Given the description of an element on the screen output the (x, y) to click on. 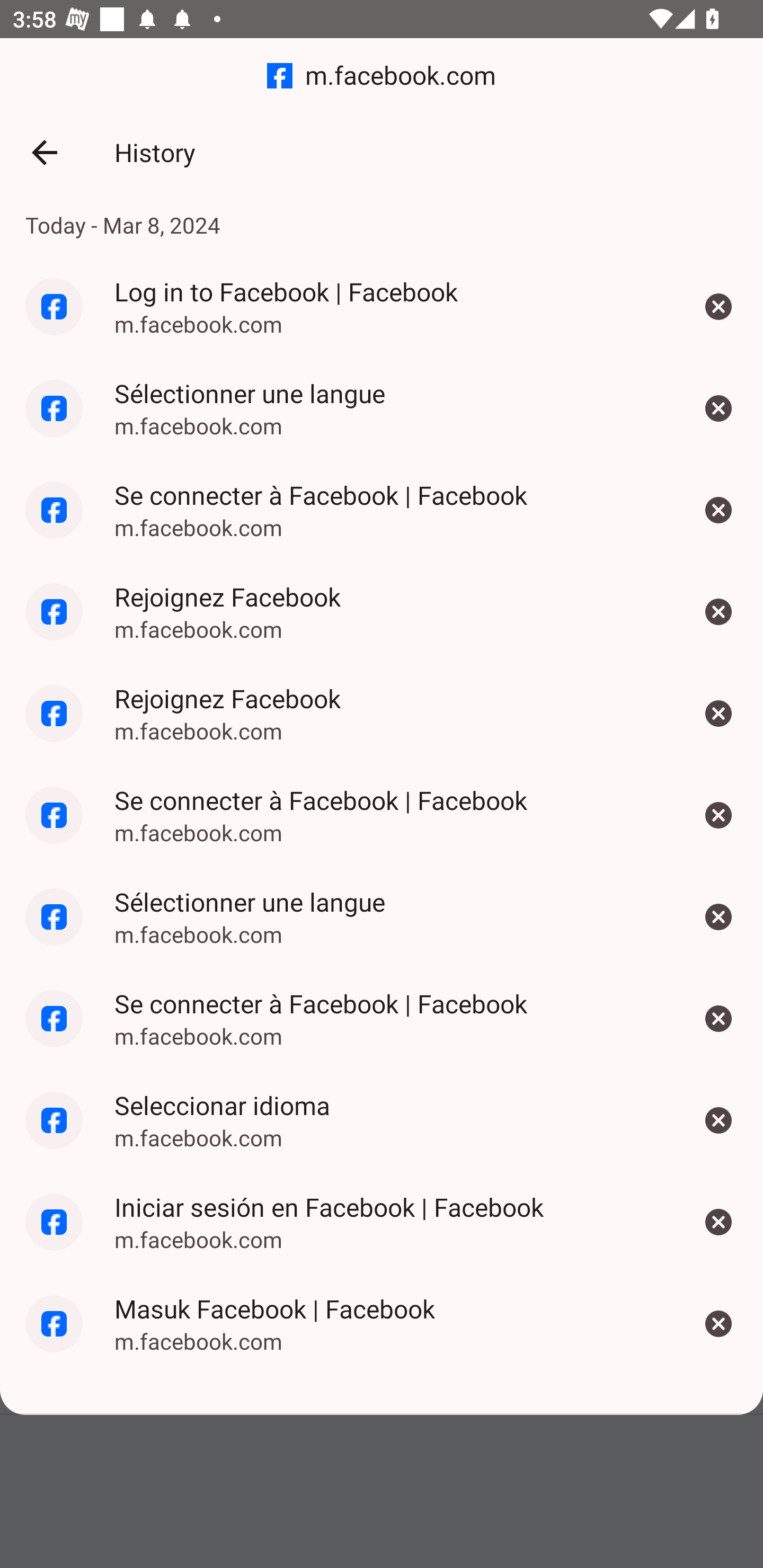
m.facebook.com (381, 75)
Back (44, 152)
Log in to Facebook | Facebook Remove (718, 306)
Sélectionner une langue Remove (718, 408)
Se connecter à Facebook | Facebook Remove (718, 510)
Rejoignez Facebook Remove (718, 612)
Rejoignez Facebook Remove (718, 714)
Se connecter à Facebook | Facebook Remove (718, 815)
Sélectionner une langue Remove (718, 916)
Se connecter à Facebook | Facebook Remove (718, 1018)
Seleccionar idioma Remove (718, 1120)
Iniciar sesión en Facebook | Facebook Remove (718, 1222)
Masuk Facebook | Facebook Remove (718, 1324)
